Given the description of an element on the screen output the (x, y) to click on. 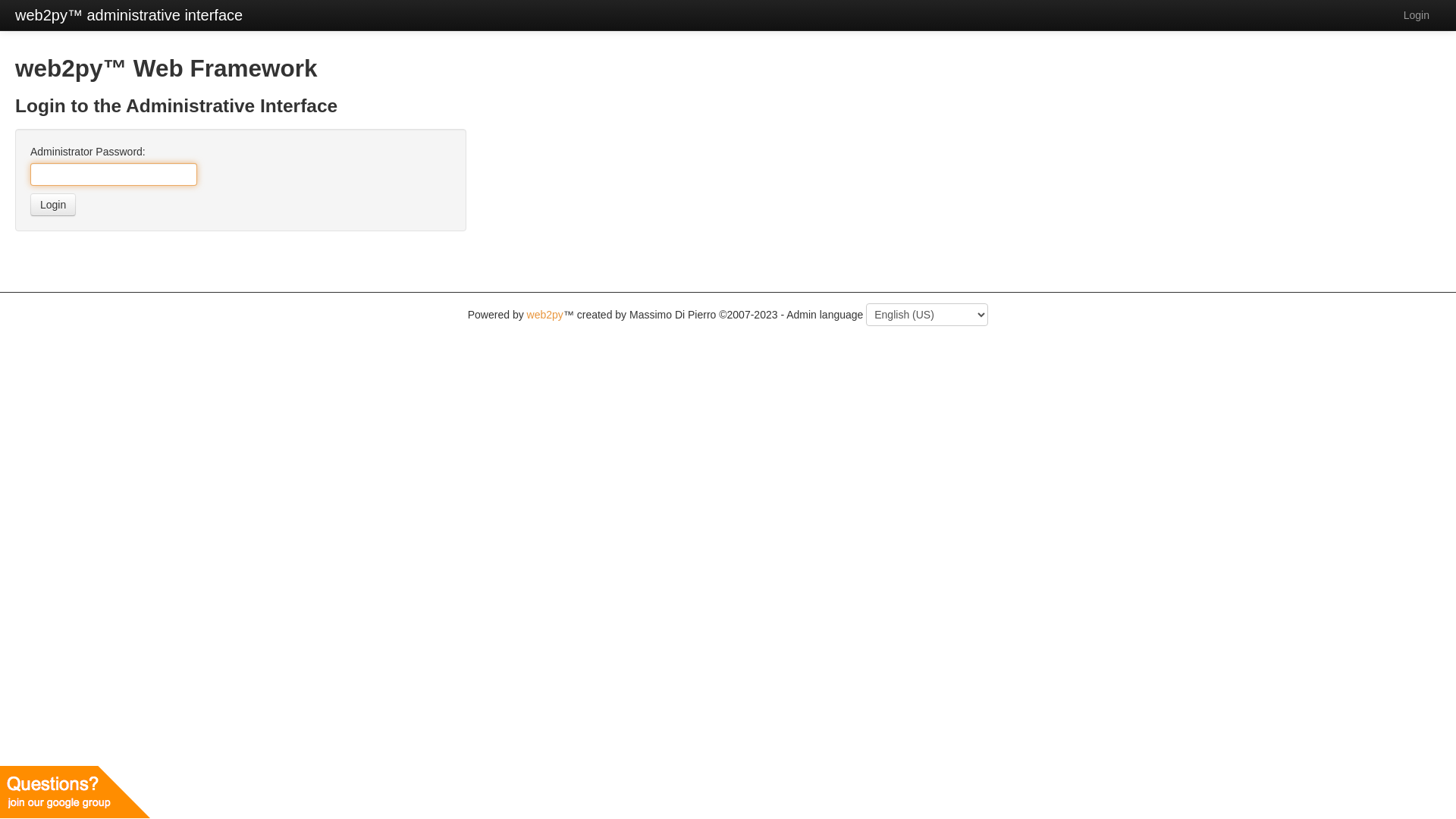
web2py Element type: text (545, 314)
Login Element type: text (1416, 15)
Login Element type: text (52, 204)
